Given the description of an element on the screen output the (x, y) to click on. 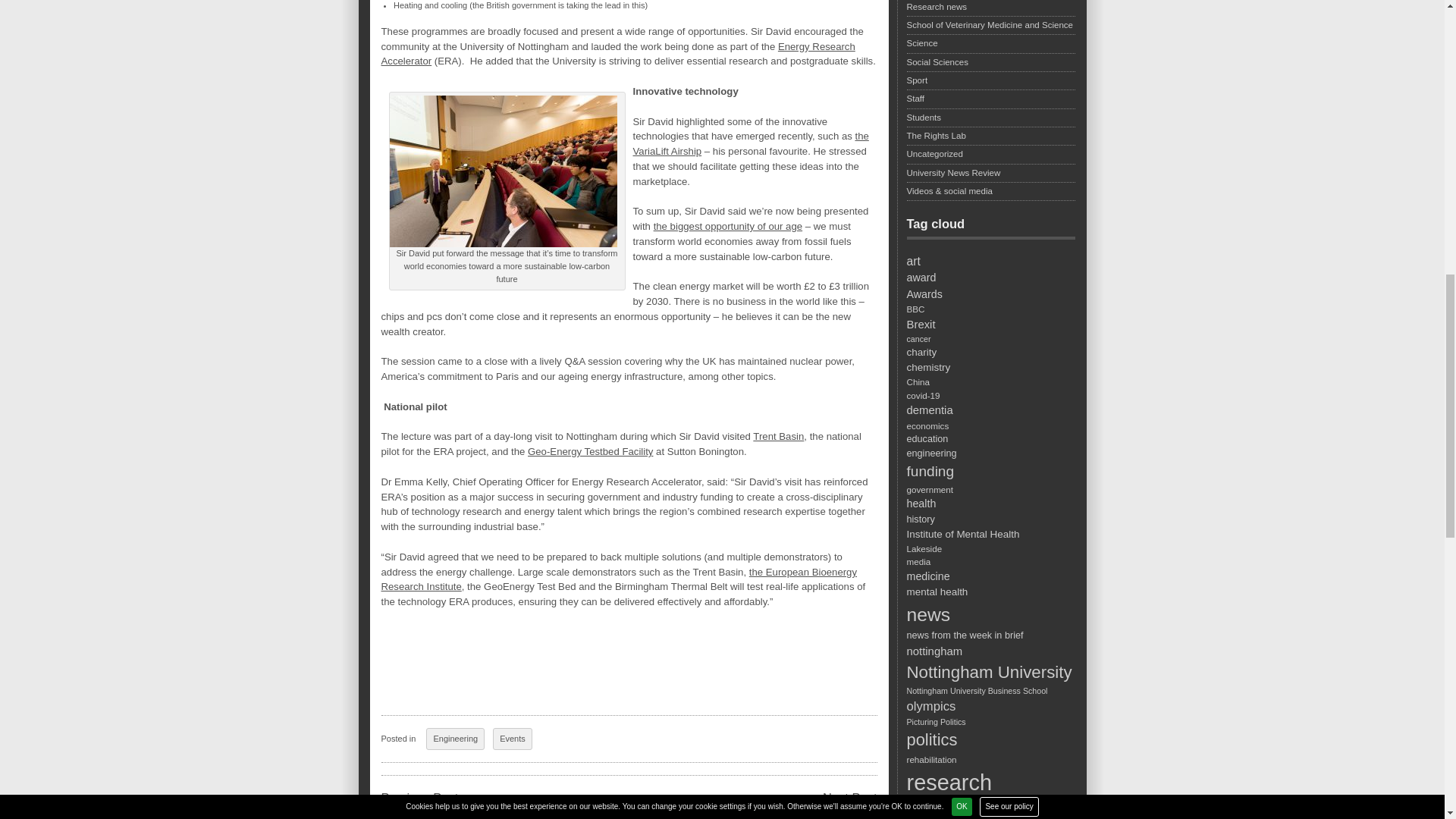
Energy Research Accelerator (617, 53)
Engineering (455, 739)
the biggest opportunity of our age (728, 225)
Geo-Energy Testbed Facility (589, 451)
the European Bioenergy Research Institute (618, 579)
the VariaLift Airship (749, 143)
Events (512, 739)
Trent Basin (777, 436)
